Given the description of an element on the screen output the (x, y) to click on. 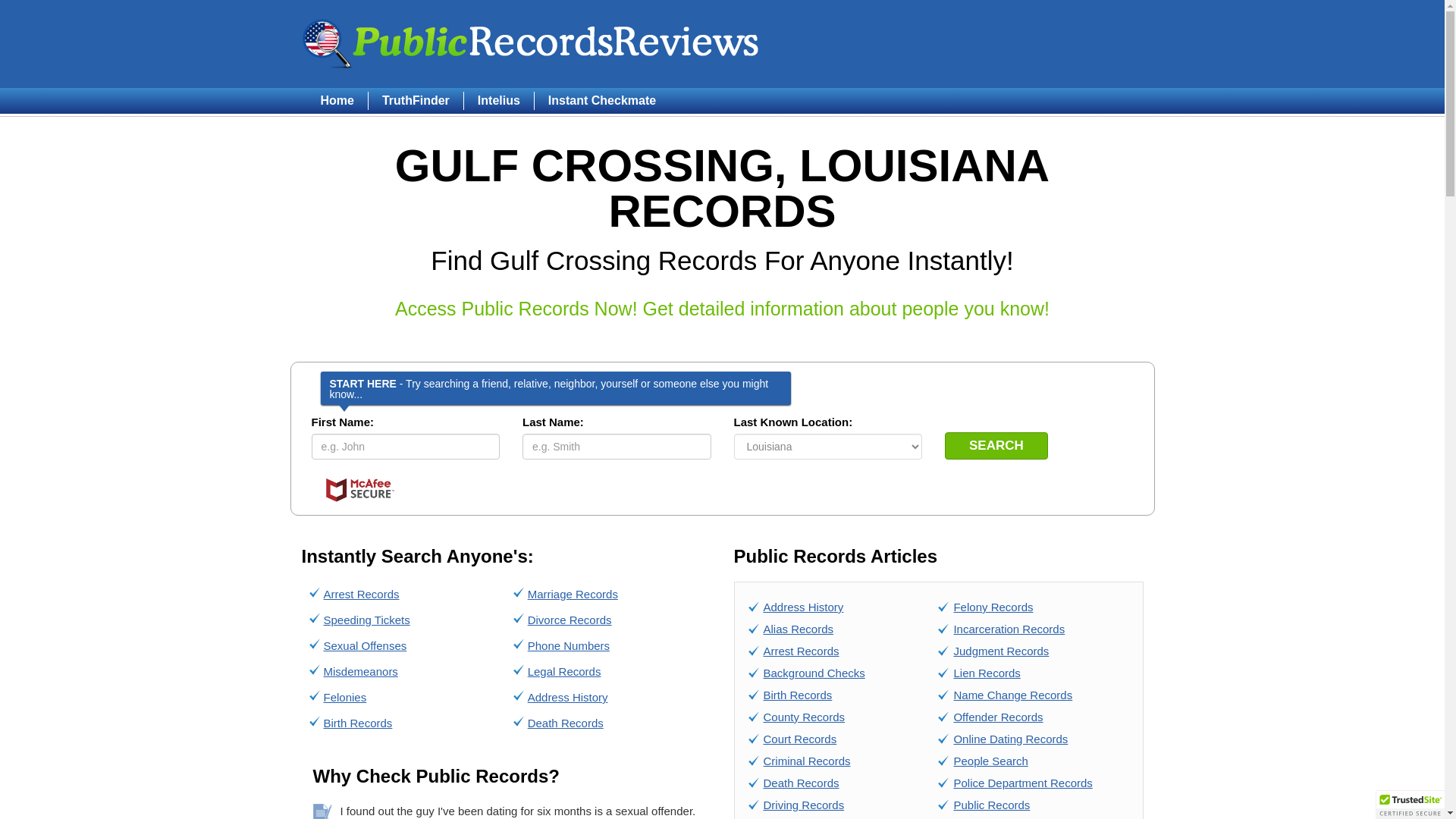
People Search (990, 760)
Misdemeanors (360, 671)
Instant Checkmate (601, 100)
Judgment Records (1000, 650)
Phone Numbers (568, 645)
Criminal Records (806, 760)
Public Record Reviews (530, 43)
Felony Records (992, 606)
Speeding Tickets (366, 619)
TruthFinder (415, 100)
